Given the description of an element on the screen output the (x, y) to click on. 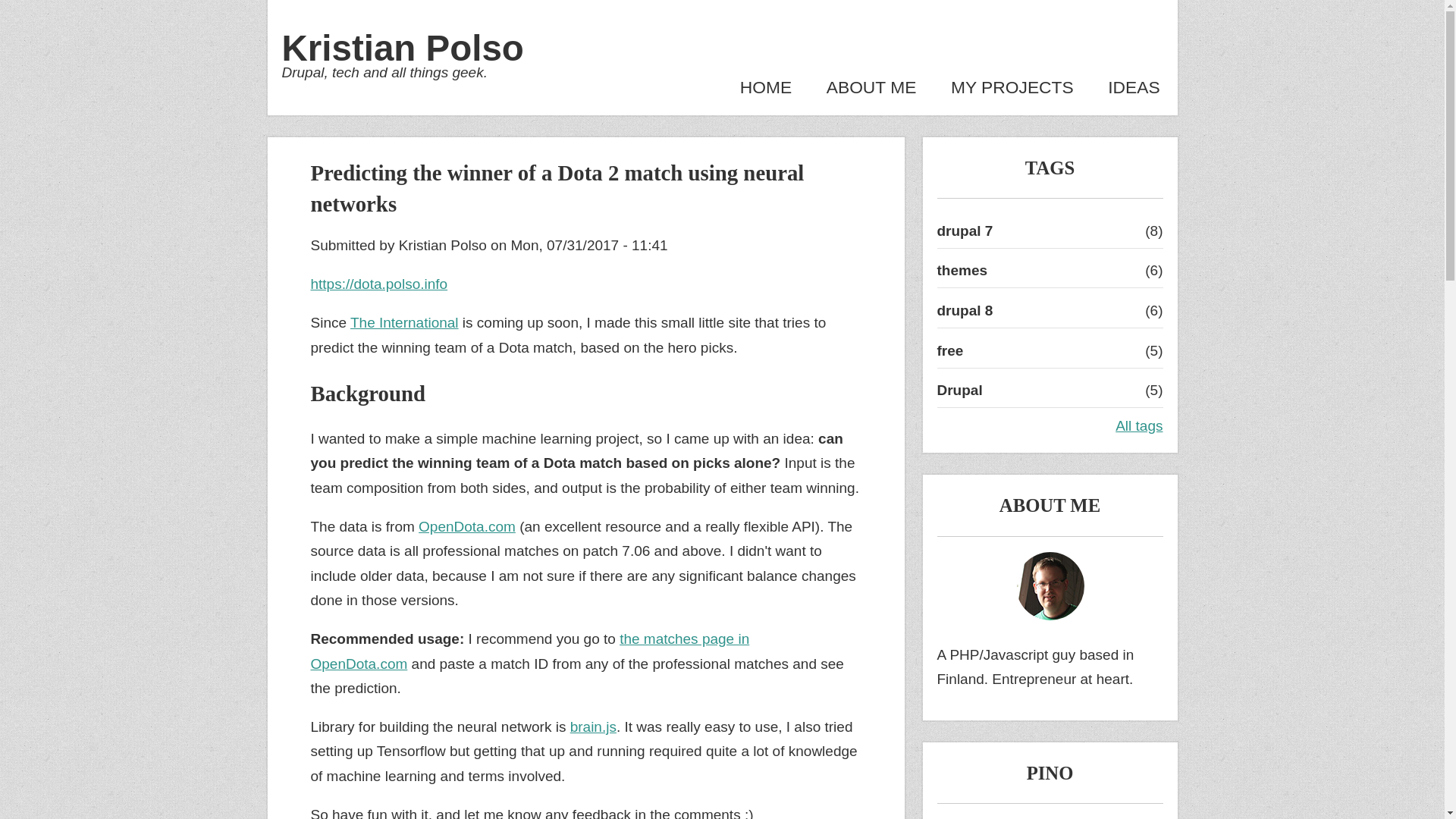
The International (404, 322)
the matches page in OpenDota.com (530, 650)
IDEAS (1133, 86)
Return to the Kristian Polso home page (403, 47)
drupal 7 (964, 230)
All tags (1138, 425)
MY PROJECTS (1012, 86)
OpenDota.com (467, 526)
brain.js (592, 726)
ABOUT ME (872, 86)
drupal 8 (964, 310)
themes (962, 270)
HOME (765, 86)
